Given the description of an element on the screen output the (x, y) to click on. 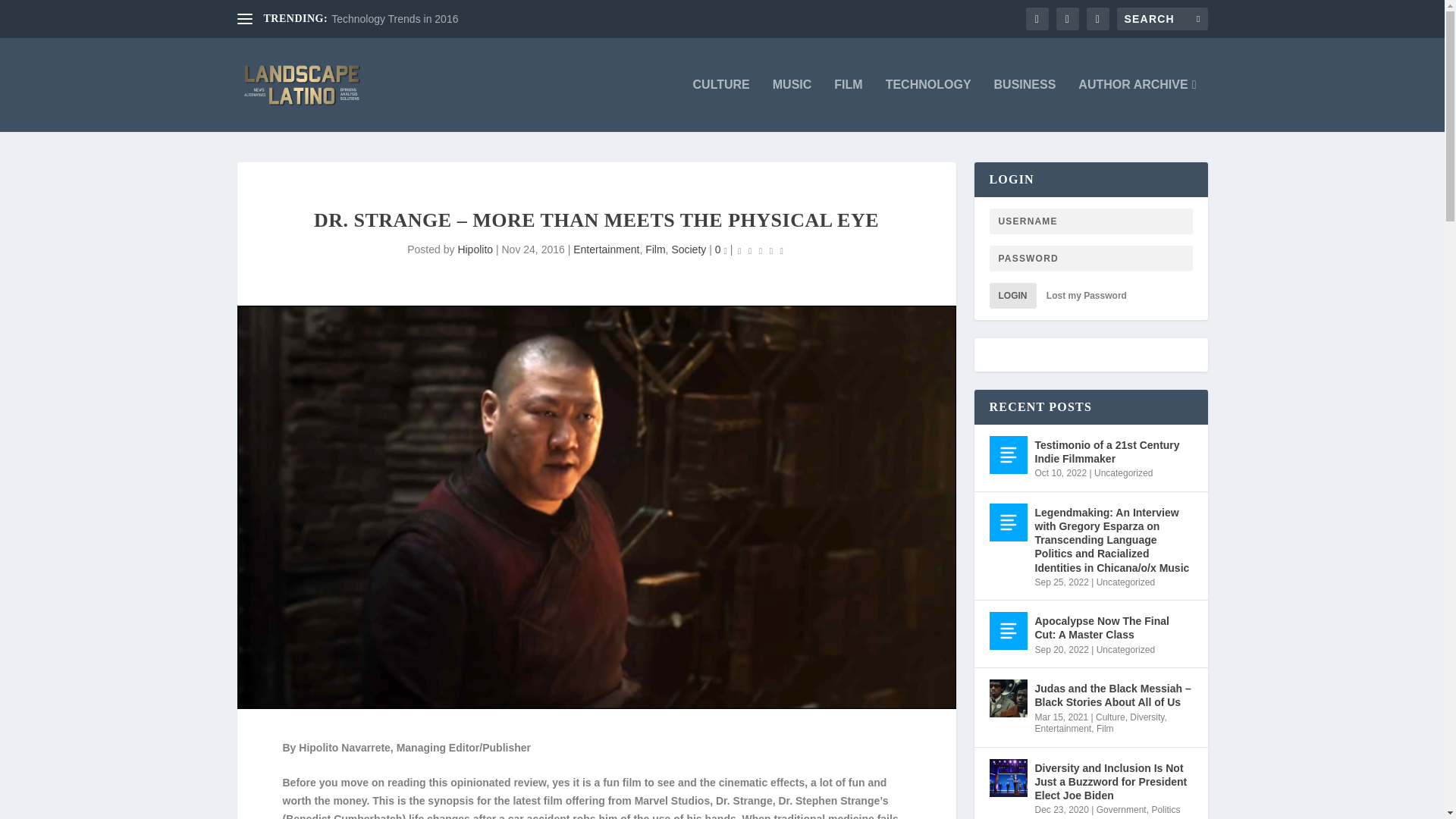
Rating: 0.00 (760, 250)
MUSIC (792, 104)
CULTURE (721, 104)
Film (655, 249)
TECHNOLOGY (928, 104)
Hipolito (475, 249)
Posts by Hipolito (475, 249)
Society (688, 249)
BUSINESS (1025, 104)
FILM (847, 104)
Technology Trends in 2016 (394, 19)
AUTHOR ARCHIVE (1136, 104)
comment count (724, 251)
Search for: (1161, 18)
Entertainment (606, 249)
